Given the description of an element on the screen output the (x, y) to click on. 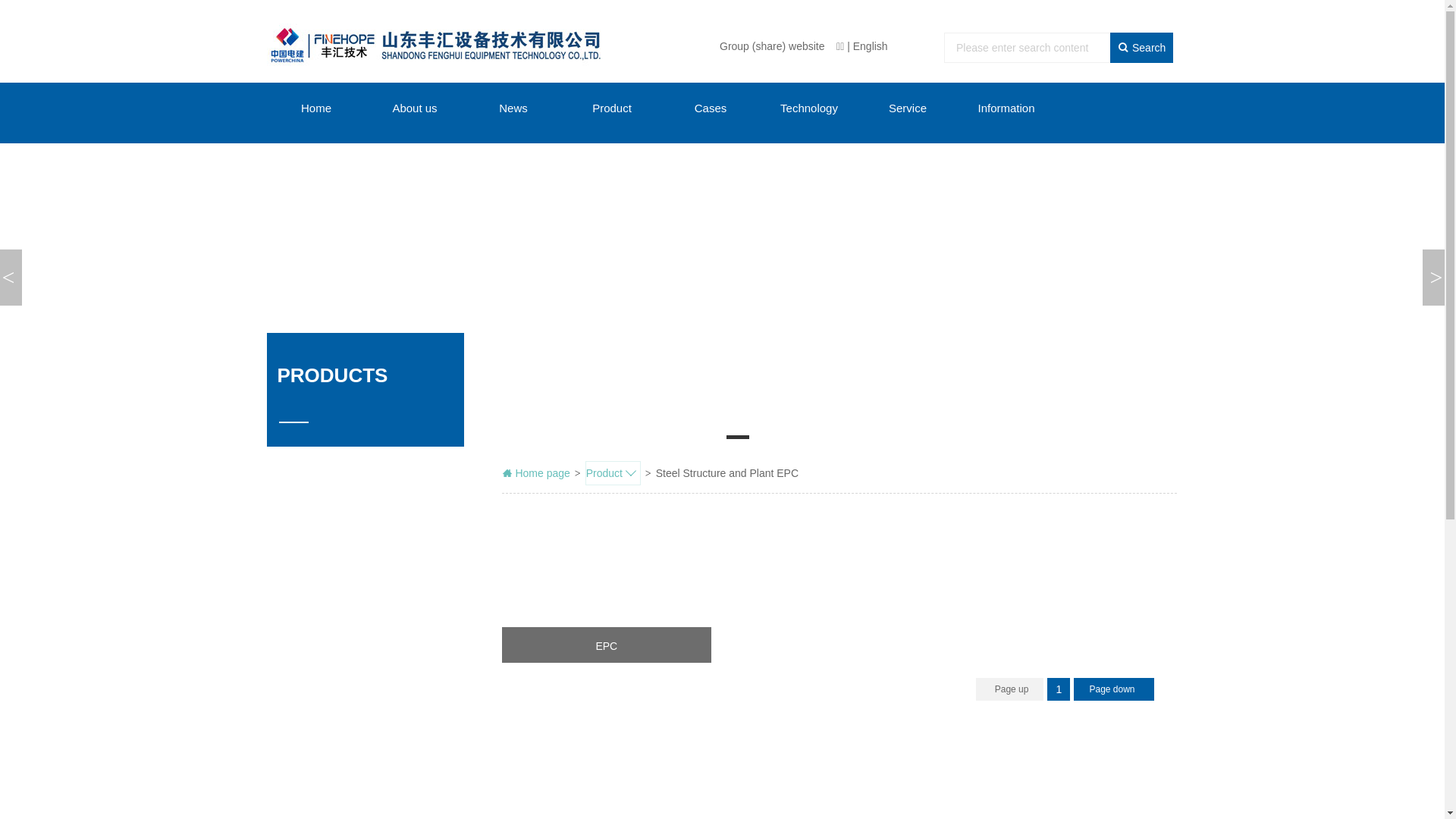
Service Element type: text (907, 108)
About us Element type: text (414, 108)
Group (share) website  Element type: text (773, 46)
Product Element type: text (612, 473)
Cases Element type: text (710, 108)
Product Element type: text (611, 108)
Technology Element type: text (809, 108)
Home Element type: text (316, 108)
News Element type: text (513, 108)
EPC
Detail Element type: text (607, 660)
Information Element type: text (1006, 108)
English  Element type: text (872, 46)
Home page Element type: text (536, 473)
